Given the description of an element on the screen output the (x, y) to click on. 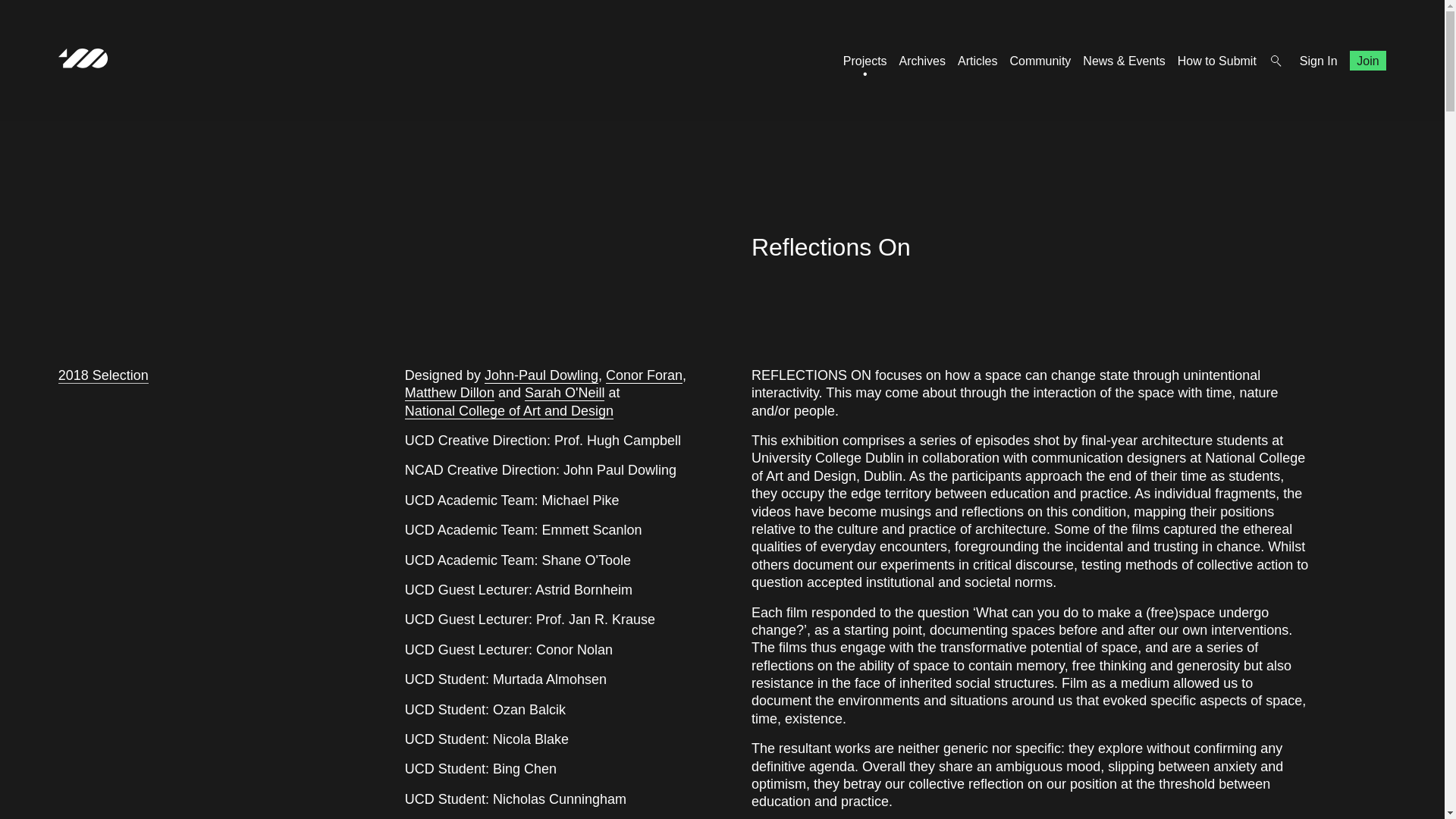
Matthew Dillon (449, 392)
Sarah O'Neill (564, 392)
National College of Art and Design (508, 411)
Conor Foran (643, 375)
Articles (977, 60)
Archives (921, 60)
How to Submit (1216, 60)
Join (1368, 60)
2018 Selection (103, 375)
Sign In (1319, 60)
